Given the description of an element on the screen output the (x, y) to click on. 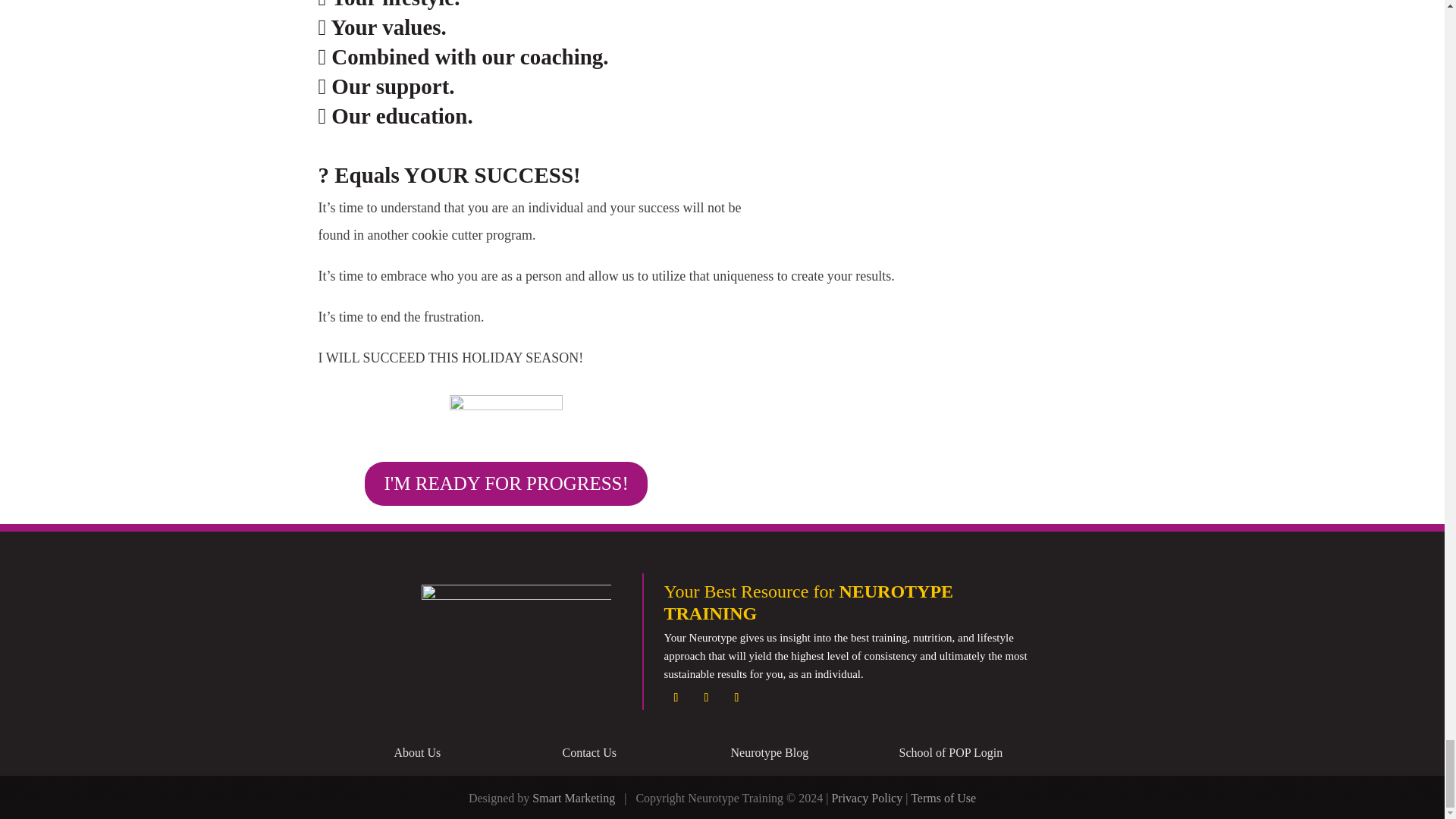
I'M READY FOR PROGRESS! (505, 483)
Neurotype-Training-LOGO-2022-MM-white (516, 621)
